Given the description of an element on the screen output the (x, y) to click on. 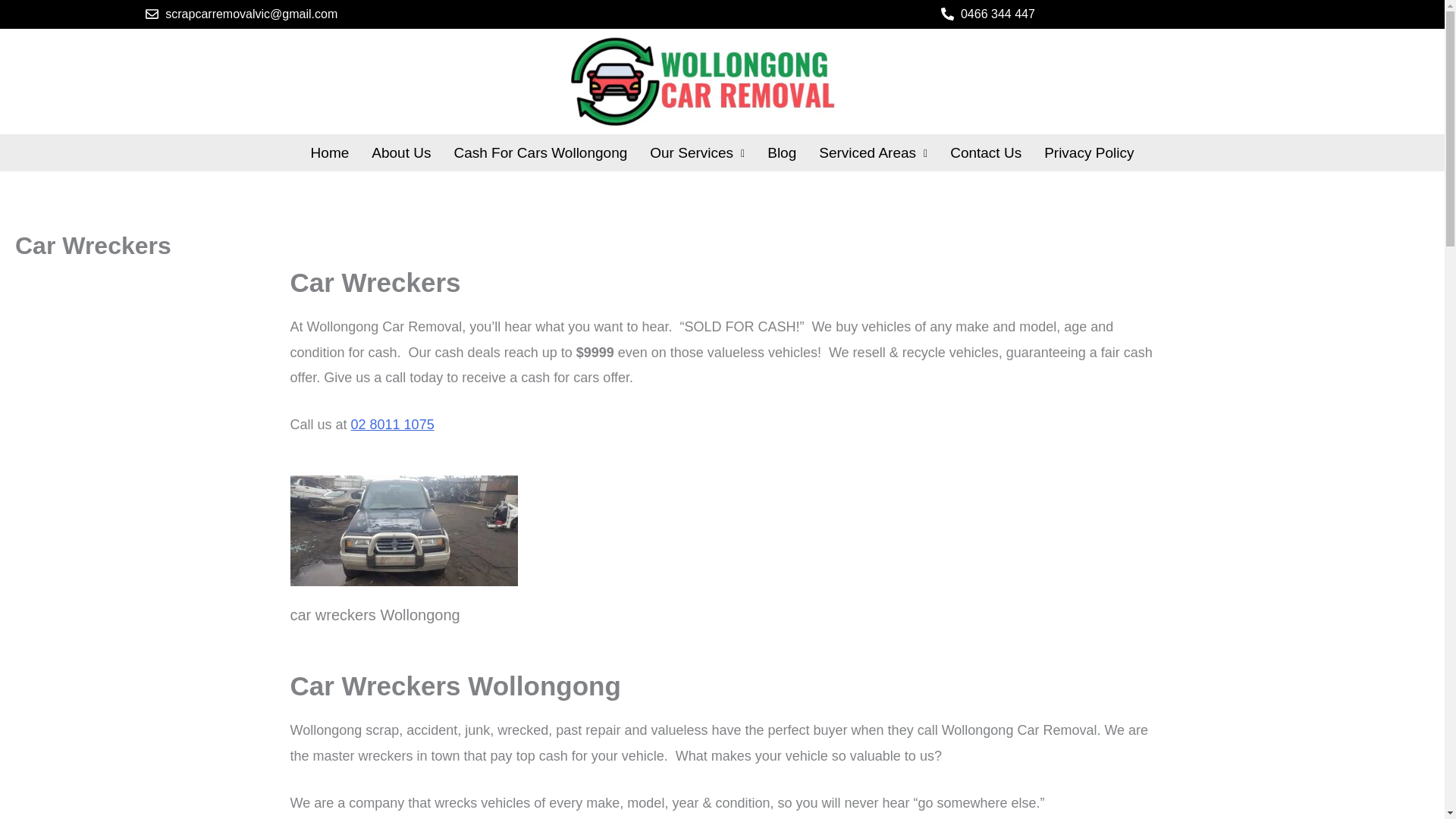
Our Services (697, 152)
02 8011 1075 (391, 424)
Cash For Cars Wollongong (540, 152)
Home (330, 152)
02 8011 1075 (391, 424)
Blog (781, 152)
Privacy Policy (1088, 152)
About Us (400, 152)
Contact Us (985, 152)
Serviced Areas (873, 152)
